Given the description of an element on the screen output the (x, y) to click on. 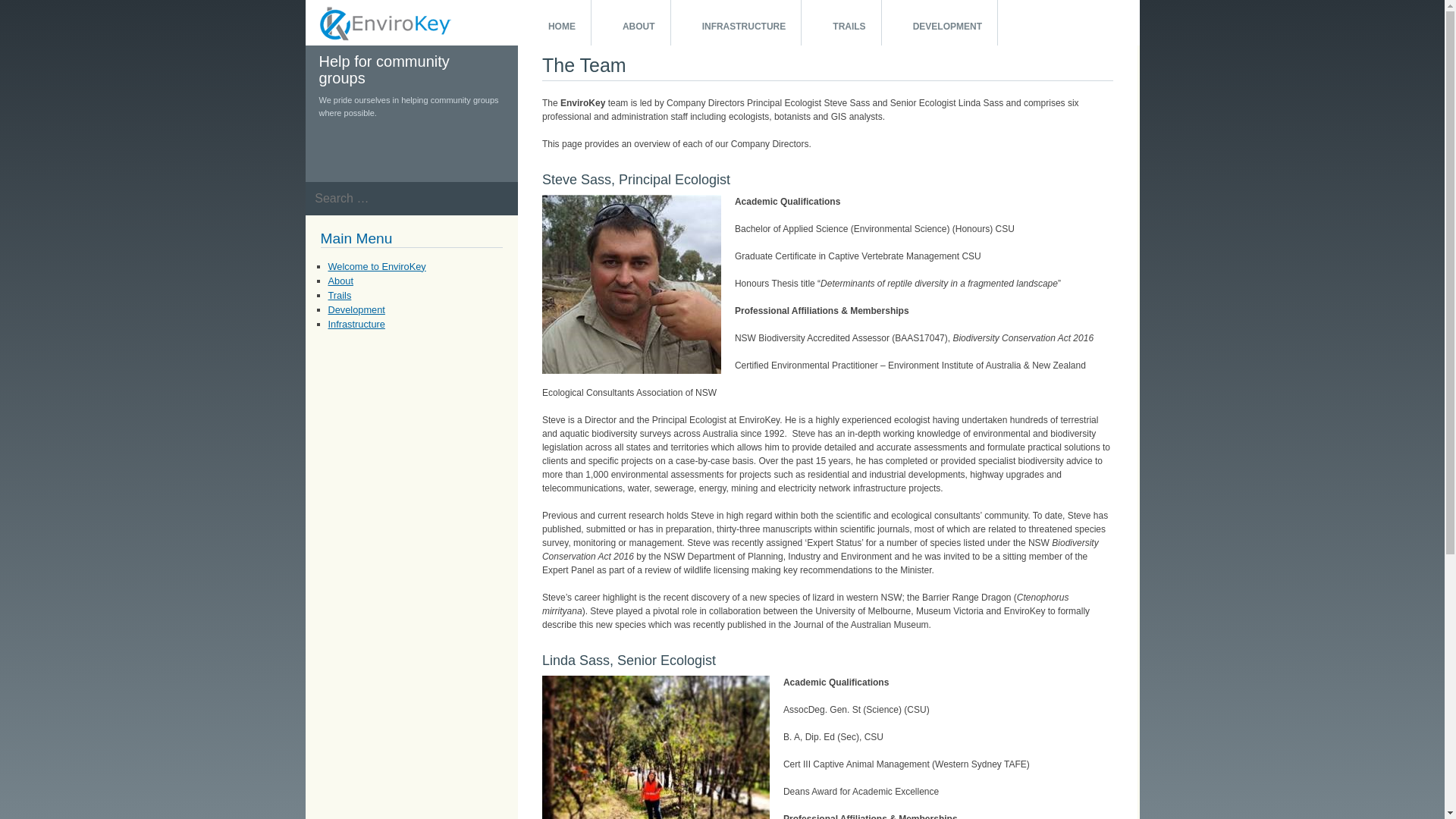
Trails Element type: text (339, 295)
TRAILS Element type: text (841, 22)
Development Element type: text (355, 309)
About Element type: text (339, 280)
Welcome to EnviroKey Element type: text (376, 266)
Envirokey Element type: text (324, 57)
Search Element type: text (28, 16)
ABOUT Element type: text (631, 22)
HOME Element type: text (553, 22)
INFRASTRUCTURE Element type: text (736, 22)
DEVELOPMENT Element type: text (939, 22)
Infrastructure Element type: text (355, 323)
